Given the description of an element on the screen output the (x, y) to click on. 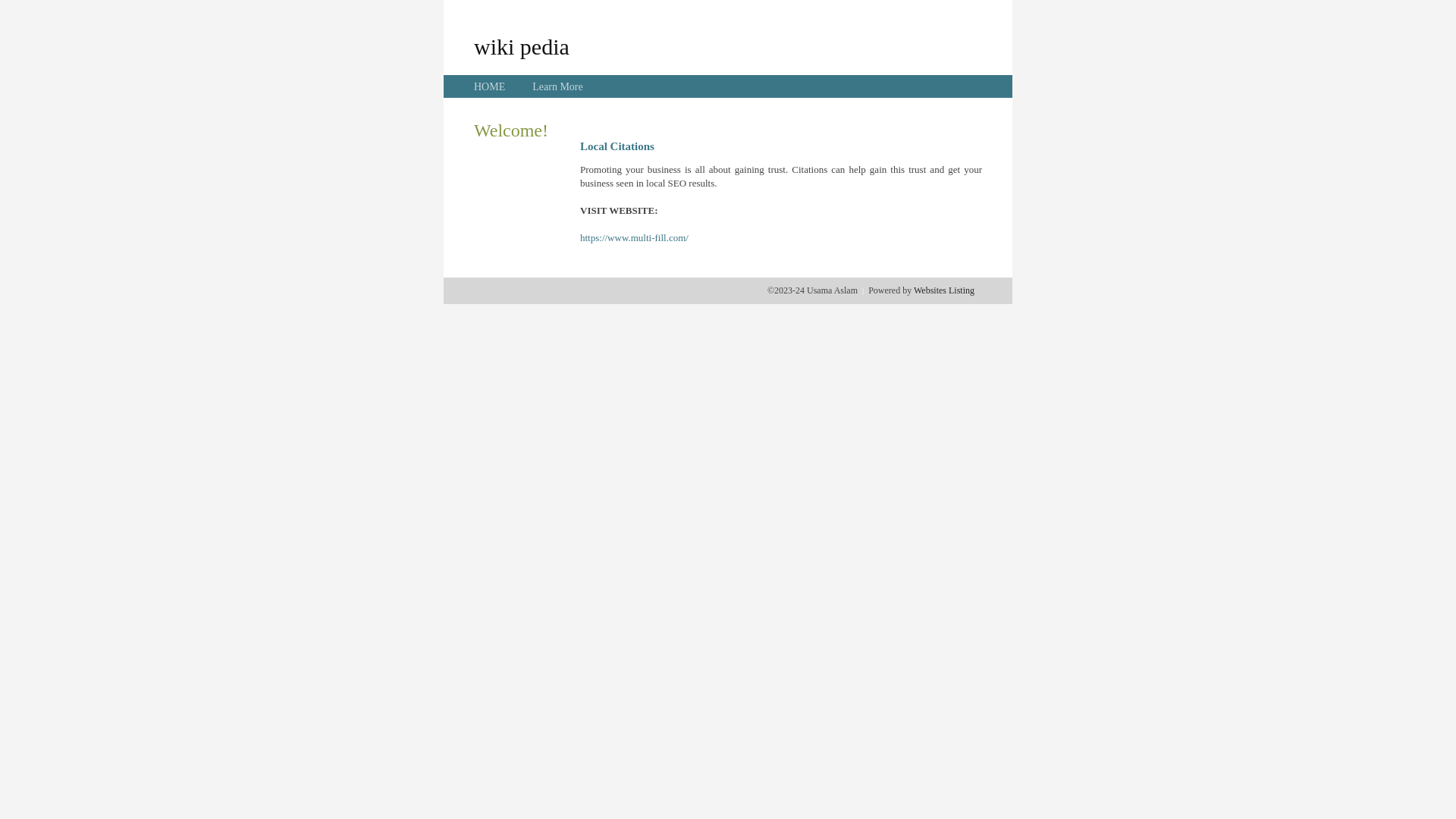
HOME Element type: text (489, 86)
Learn More Element type: text (557, 86)
Websites Listing Element type: text (943, 290)
https://www.multi-fill.com/ Element type: text (634, 237)
wiki pedia Element type: text (521, 46)
